Given the description of an element on the screen output the (x, y) to click on. 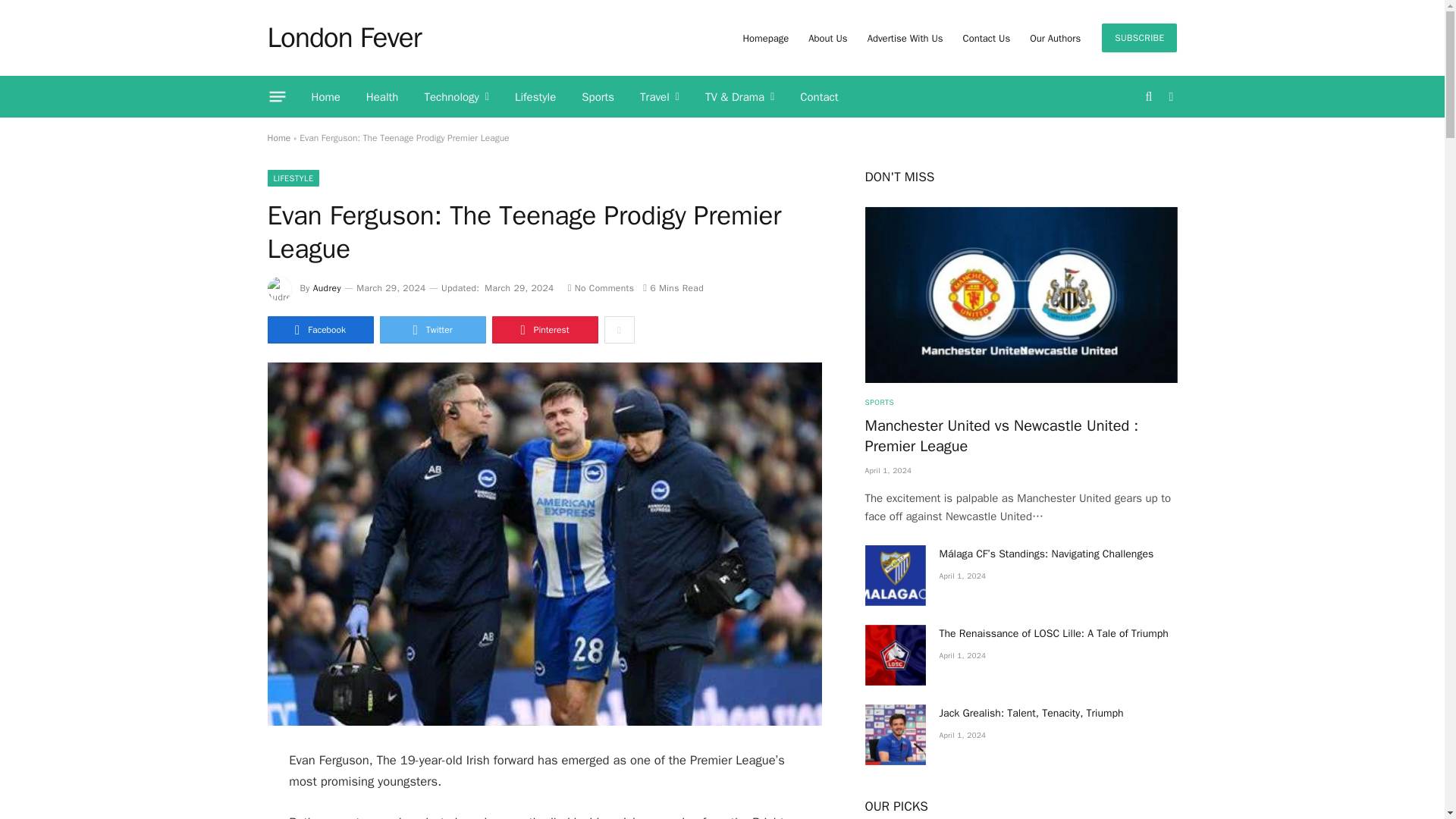
Contact (818, 96)
Technology (456, 96)
Switch to Dark Design - easier on eyes. (1168, 96)
London Fever (343, 37)
Sports (598, 96)
Advertise With Us (905, 38)
LondonFever (343, 37)
SUBSCRIBE (1139, 37)
Contact Us (986, 38)
Home (325, 96)
Travel (660, 96)
Posts by Audrey (326, 287)
Our Authors (1055, 38)
Health (382, 96)
Lifestyle (535, 96)
